Given the description of an element on the screen output the (x, y) to click on. 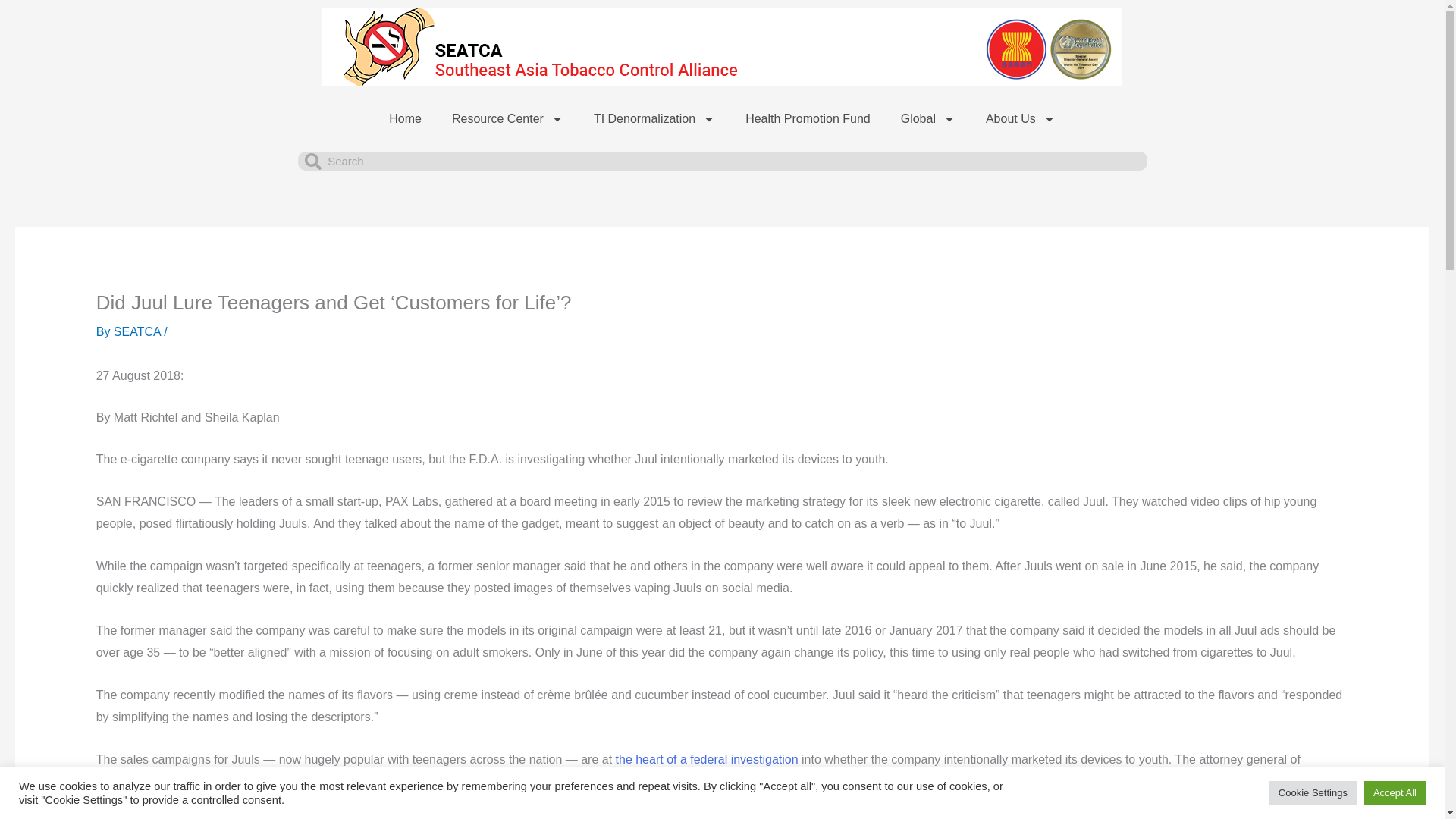
Resource Center (507, 118)
Health Promotion Fund (807, 118)
About Us (1020, 118)
View all posts by SEATCA (138, 331)
TI Denormalization (654, 118)
Global (928, 118)
Home (405, 118)
